Given the description of an element on the screen output the (x, y) to click on. 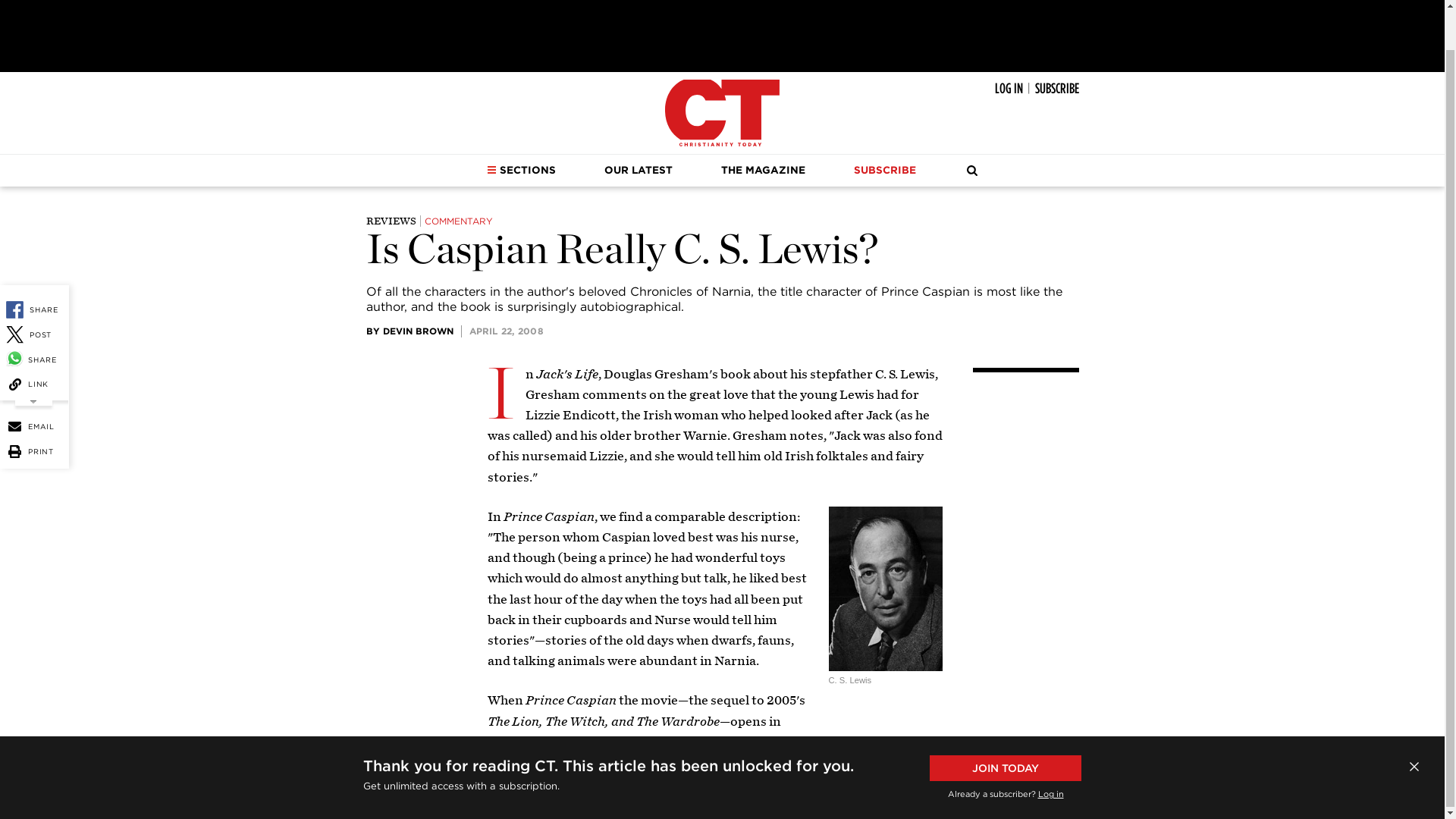
Sections Dropdown (491, 169)
3rd party ad content (721, 32)
SUBSCRIBE (1055, 88)
SECTIONS (521, 170)
Christianity Today (721, 112)
LOG IN (1008, 88)
